Given the description of an element on the screen output the (x, y) to click on. 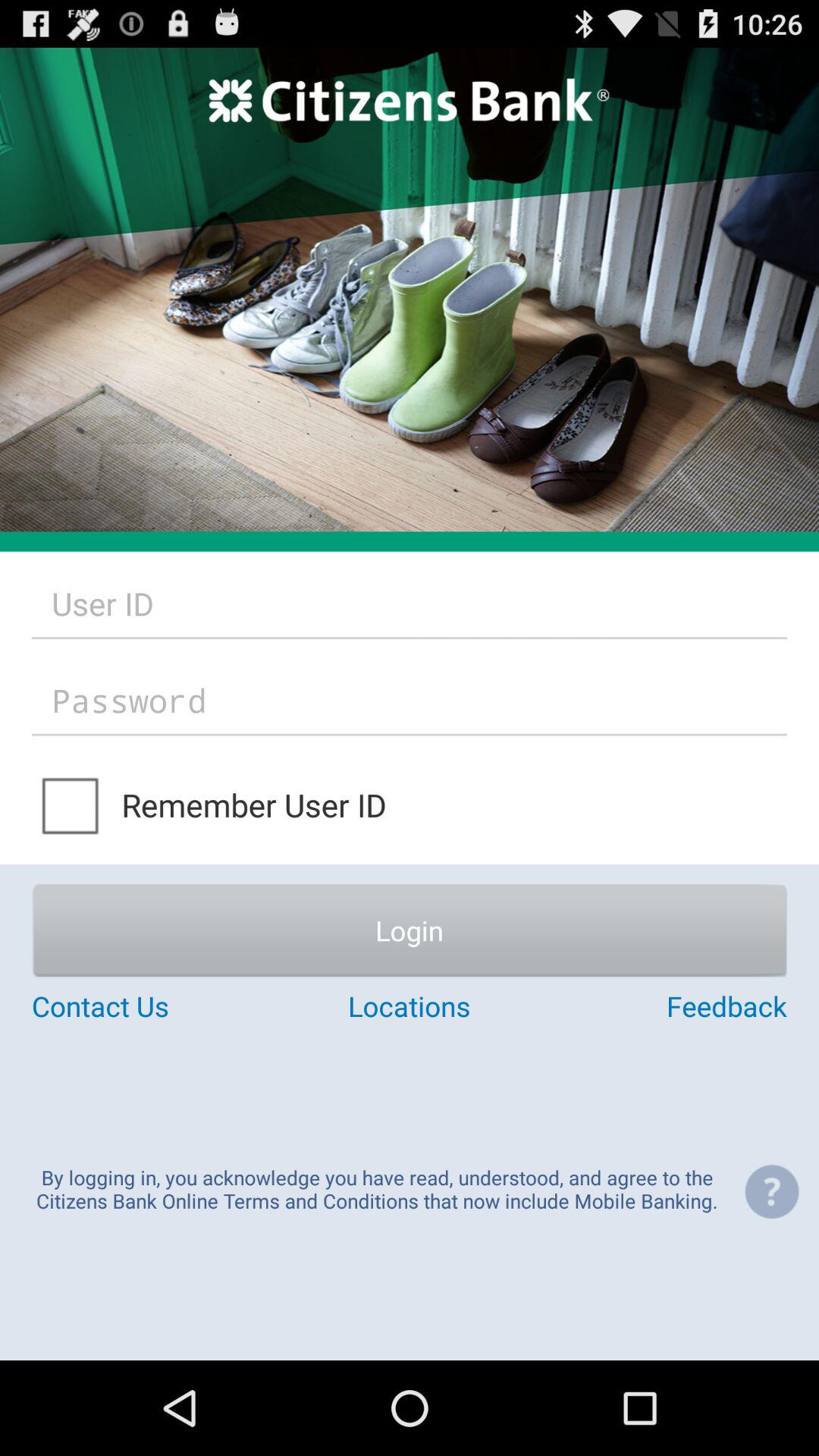
tap the app to the left of the remember user id icon (71, 804)
